Given the description of an element on the screen output the (x, y) to click on. 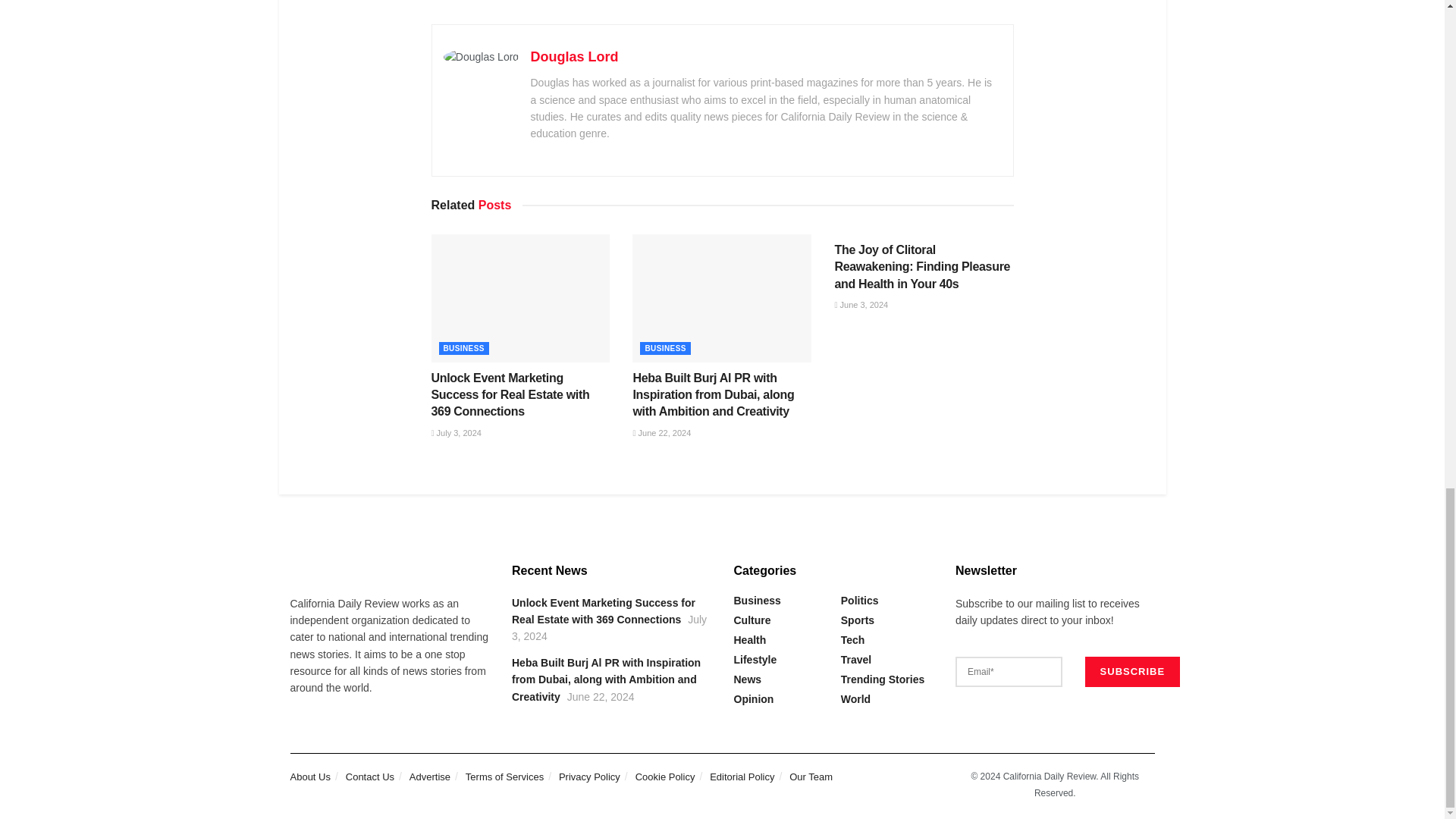
Subscribe (1132, 671)
